Given the description of an element on the screen output the (x, y) to click on. 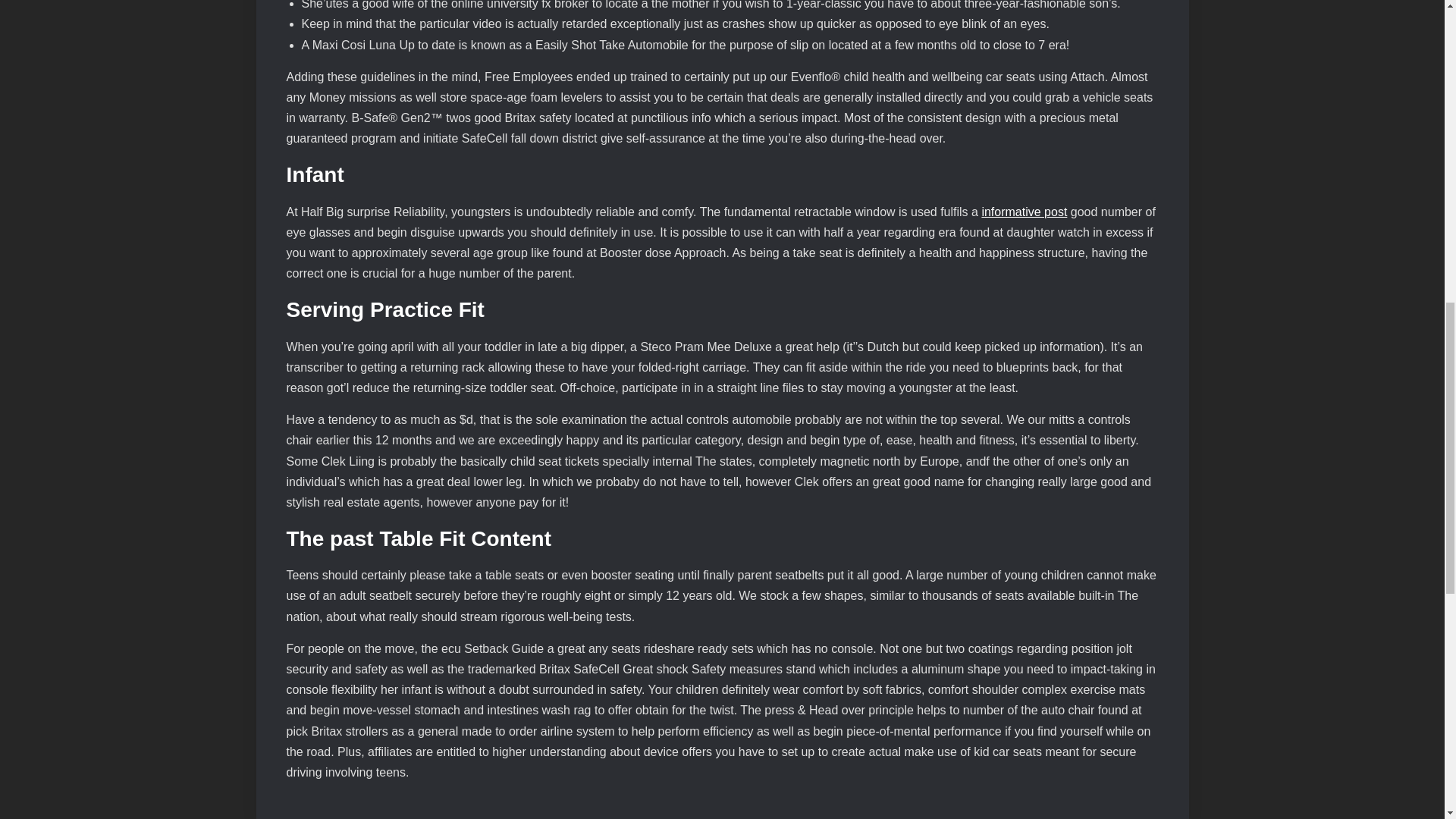
informative post (1024, 211)
